Given the description of an element on the screen output the (x, y) to click on. 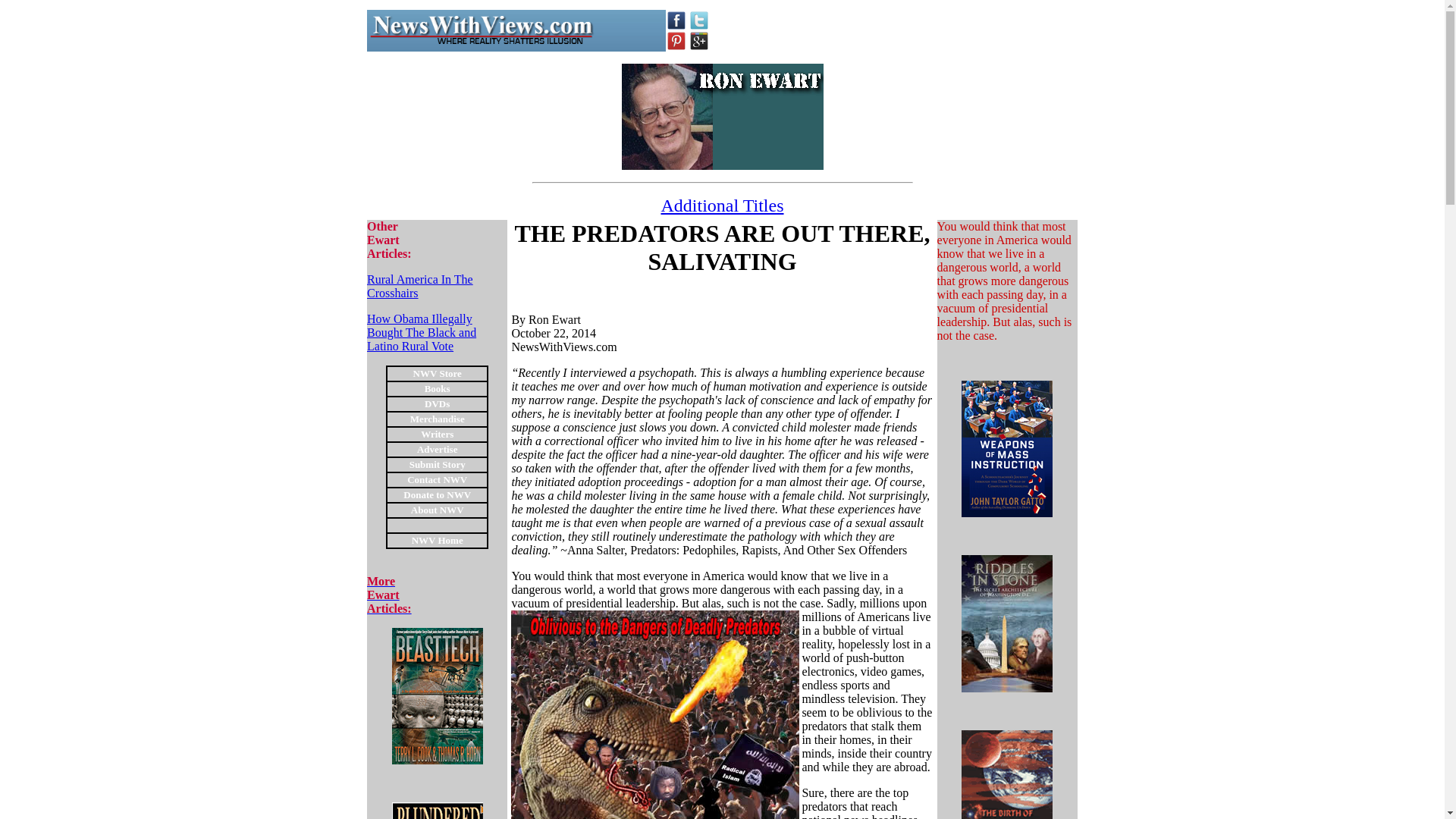
About NWV (389, 594)
NWV Home (437, 508)
NWV Store (437, 539)
Advertise (437, 372)
Writers (436, 448)
Donate to NWV (436, 432)
Books (436, 493)
Additional Titles (437, 387)
NewsWithViews on Facebook (722, 205)
Submit Story (675, 20)
How Obama Illegally Bought The Black and Latino Rural Vote (437, 463)
NewsWithViews.com (421, 332)
NewsWithViews on Pinterest (480, 30)
Merchandise (675, 40)
